Given the description of an element on the screen output the (x, y) to click on. 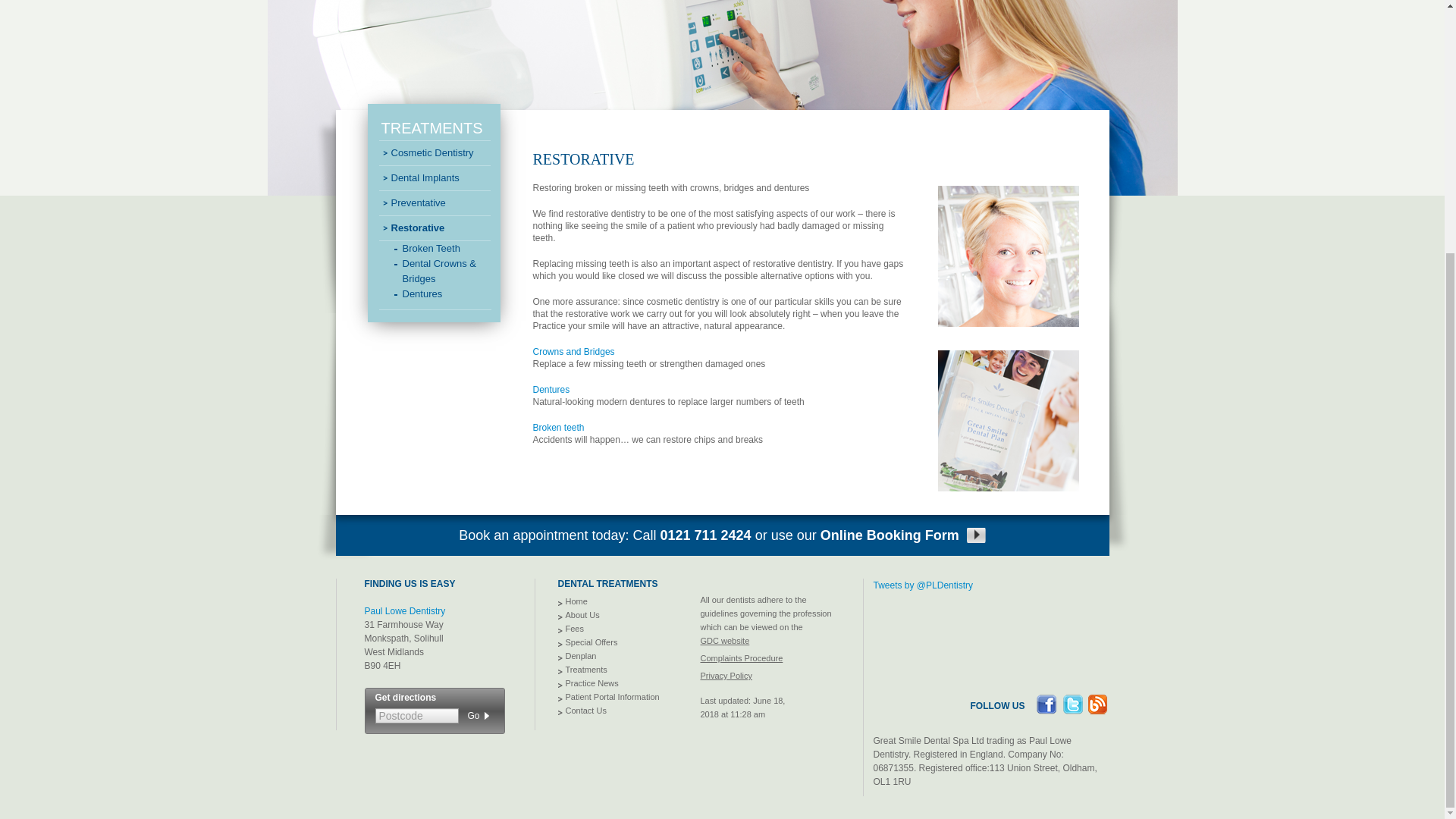
Dentures (550, 389)
Broken Teeth (557, 427)
Go (472, 713)
